Given the description of an element on the screen output the (x, y) to click on. 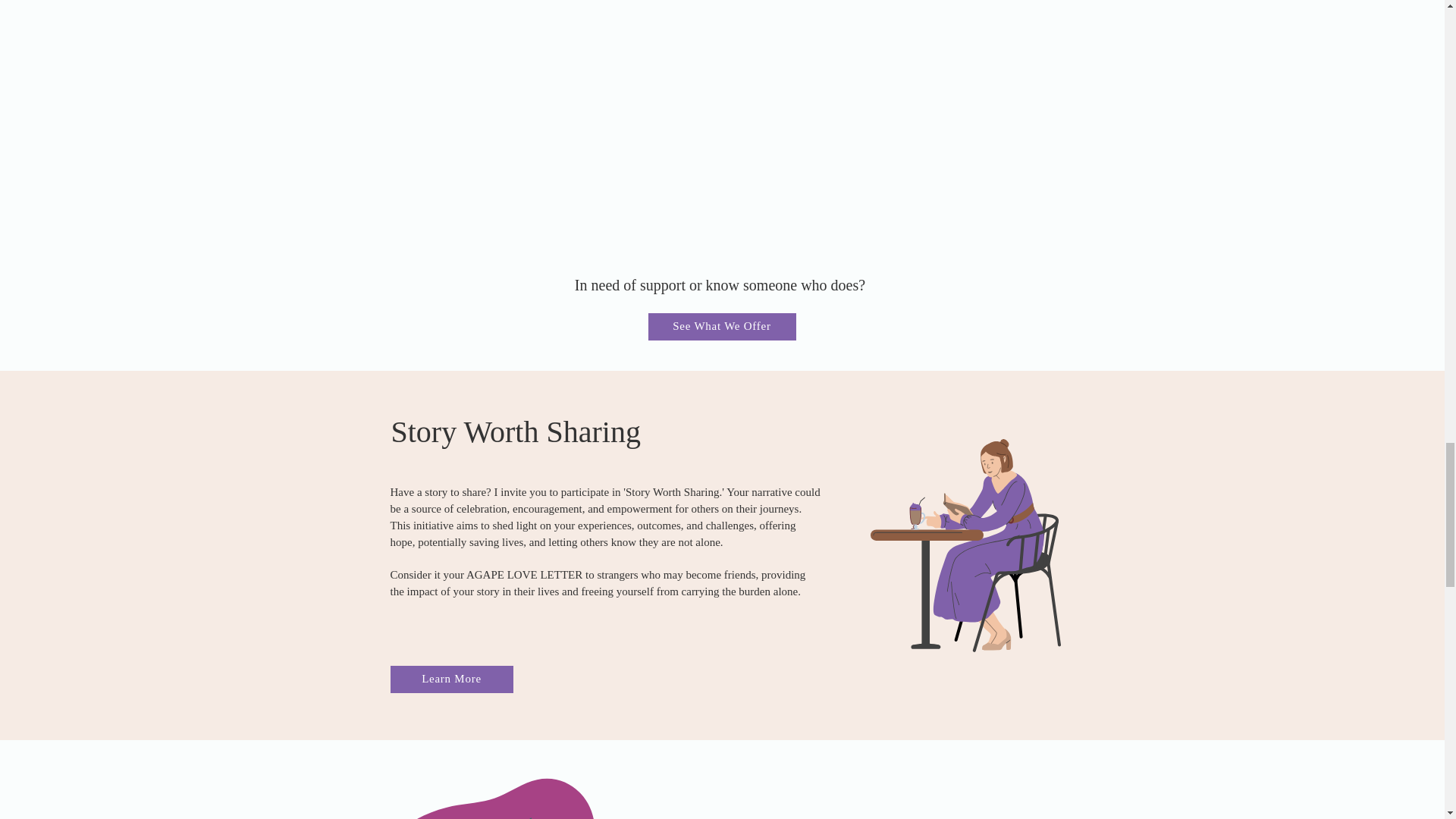
Learn More (451, 678)
See What We Offer (720, 326)
